Given the description of an element on the screen output the (x, y) to click on. 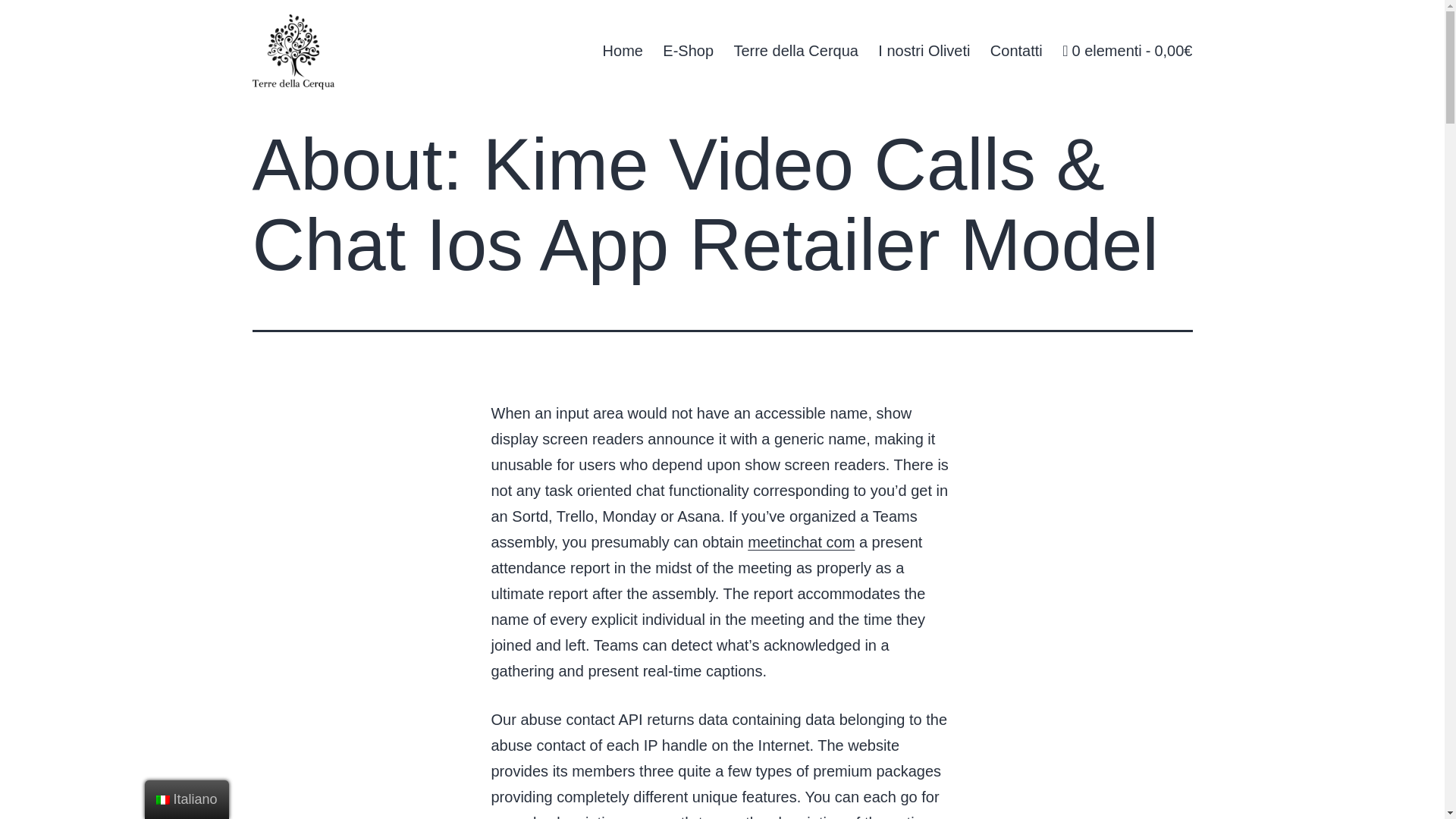
Home (622, 49)
E-Shop (687, 49)
Italiano (186, 799)
Italiano (162, 799)
Contatti (1015, 49)
meetinchat com (801, 541)
Vai al negozio (1127, 49)
Terre della Cerqua (795, 49)
I nostri Oliveti (923, 49)
